Given the description of an element on the screen output the (x, y) to click on. 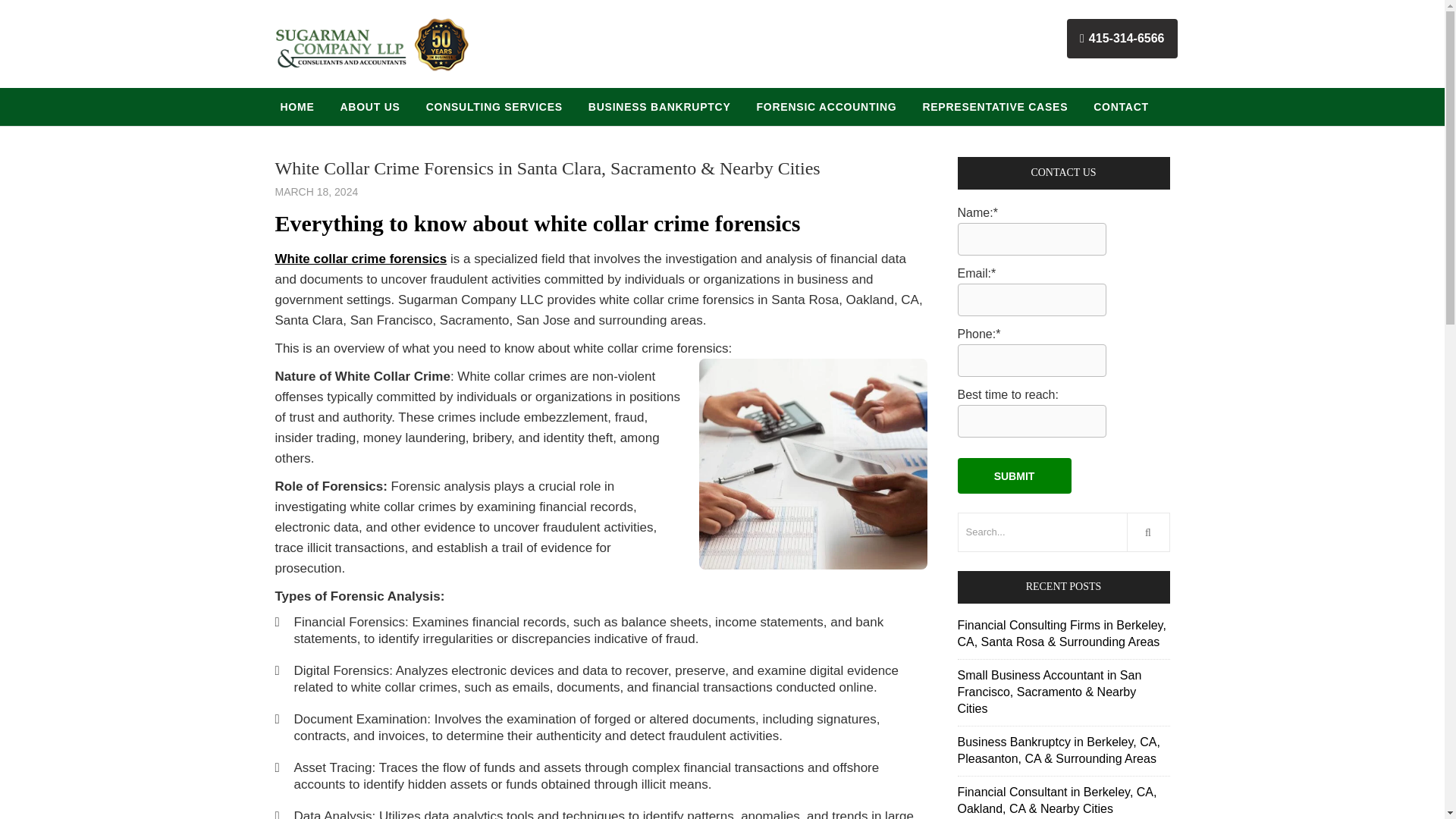
FORENSIC ACCOUNTING (827, 106)
White collar crime forensics (360, 258)
ABOUT US (370, 106)
HOME (296, 106)
CONTACT (1120, 106)
Submit (1013, 475)
Submit (1013, 475)
CONSULTING SERVICES (494, 106)
BUSINESS BANKRUPTCY (659, 106)
415-314-6566 (1121, 38)
